Given the description of an element on the screen output the (x, y) to click on. 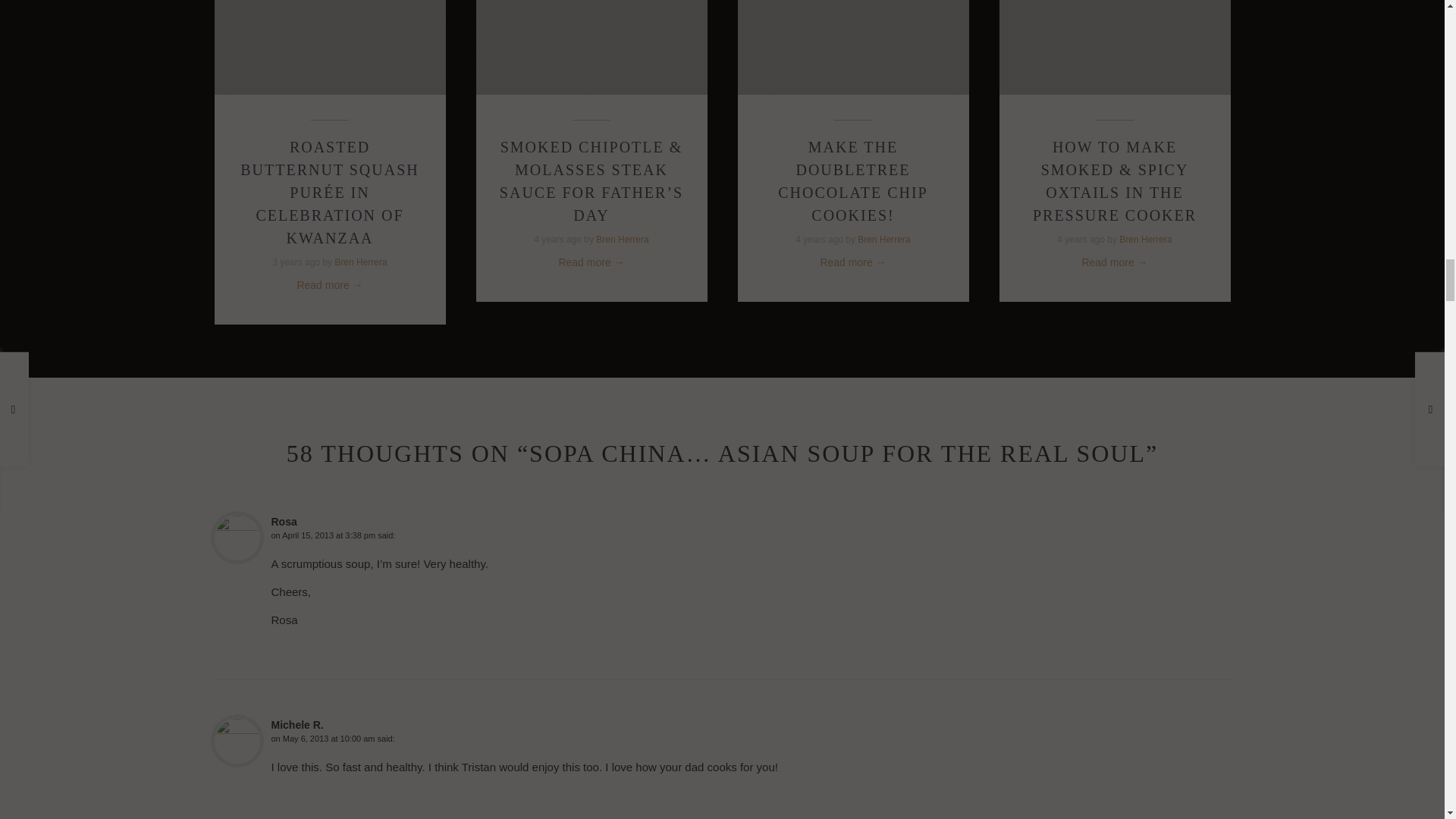
Make The DoubleTree Chocolate Chip Cookies! (852, 180)
